Given the description of an element on the screen output the (x, y) to click on. 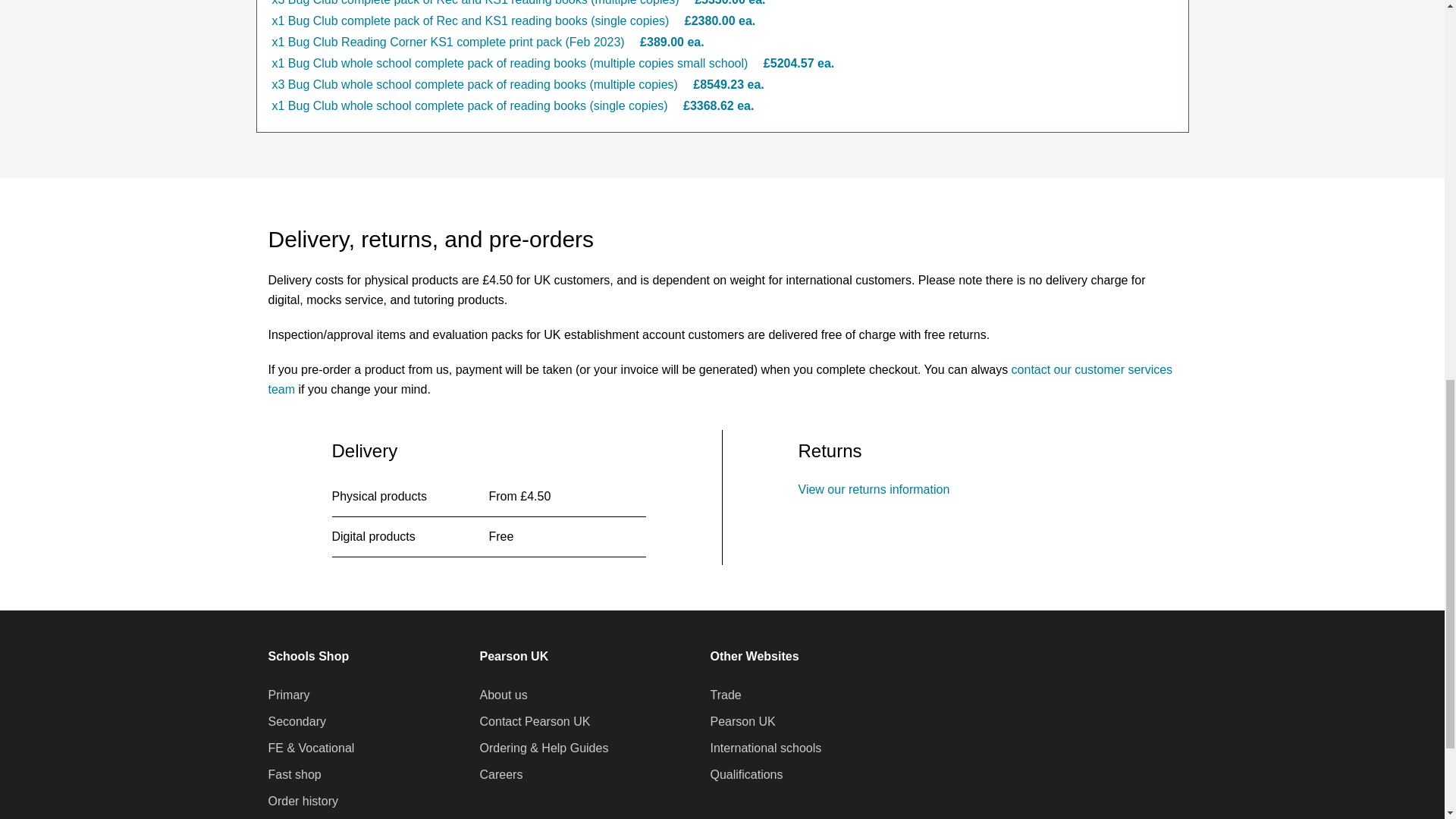
View our returns information (873, 489)
contact our customer services team (720, 379)
Order history (302, 801)
Primary (288, 694)
Fast shop (294, 774)
Returns (873, 489)
Secondary (296, 721)
